Given the description of an element on the screen output the (x, y) to click on. 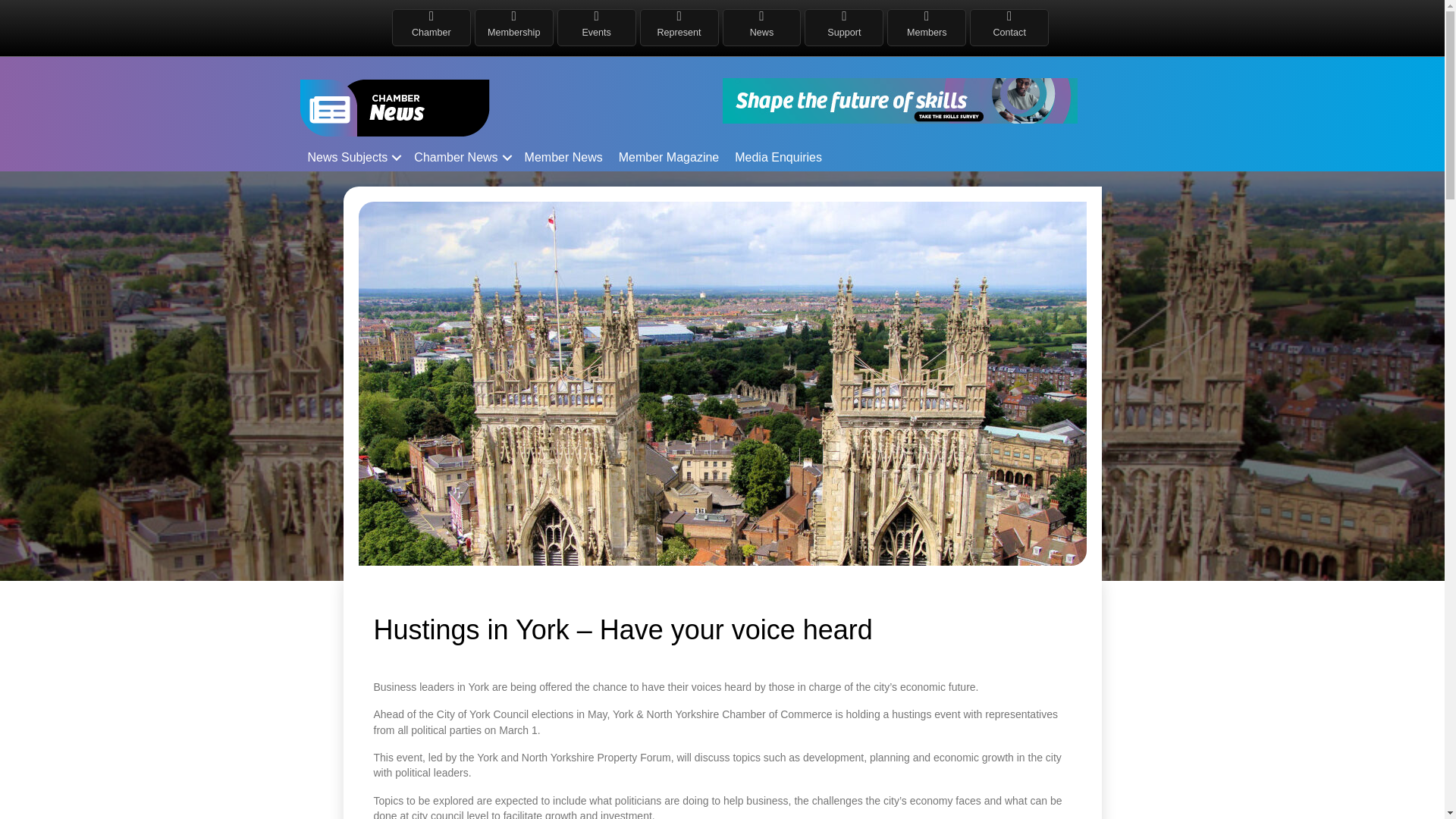
Contact (1009, 27)
Represent (678, 27)
News-Logo (394, 107)
Media Enquiries (777, 157)
Events (595, 27)
Chamber News (460, 157)
Membership (514, 27)
News Subjects (352, 157)
Member Magazine (668, 157)
Member News (563, 157)
Chamber (431, 27)
News (761, 27)
Support (843, 27)
Members (926, 27)
